Given the description of an element on the screen output the (x, y) to click on. 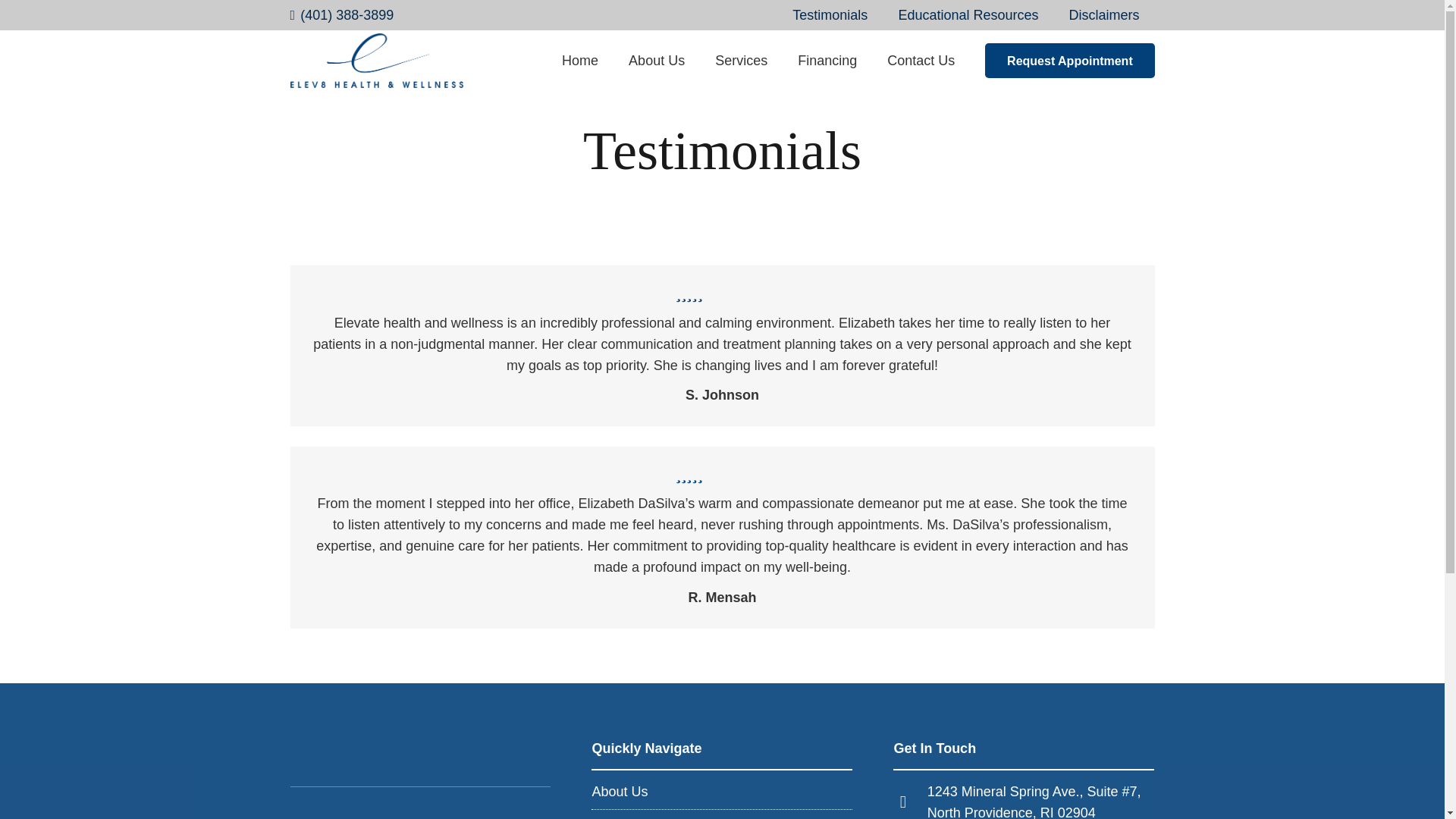
About Us (619, 791)
About Us (656, 60)
Educational Resources (967, 15)
Services (741, 60)
Request Appointment (1069, 60)
Testimonials (829, 15)
Contact Us (920, 60)
Home (579, 60)
Financing (827, 60)
Disclaimers (1103, 15)
